Given the description of an element on the screen output the (x, y) to click on. 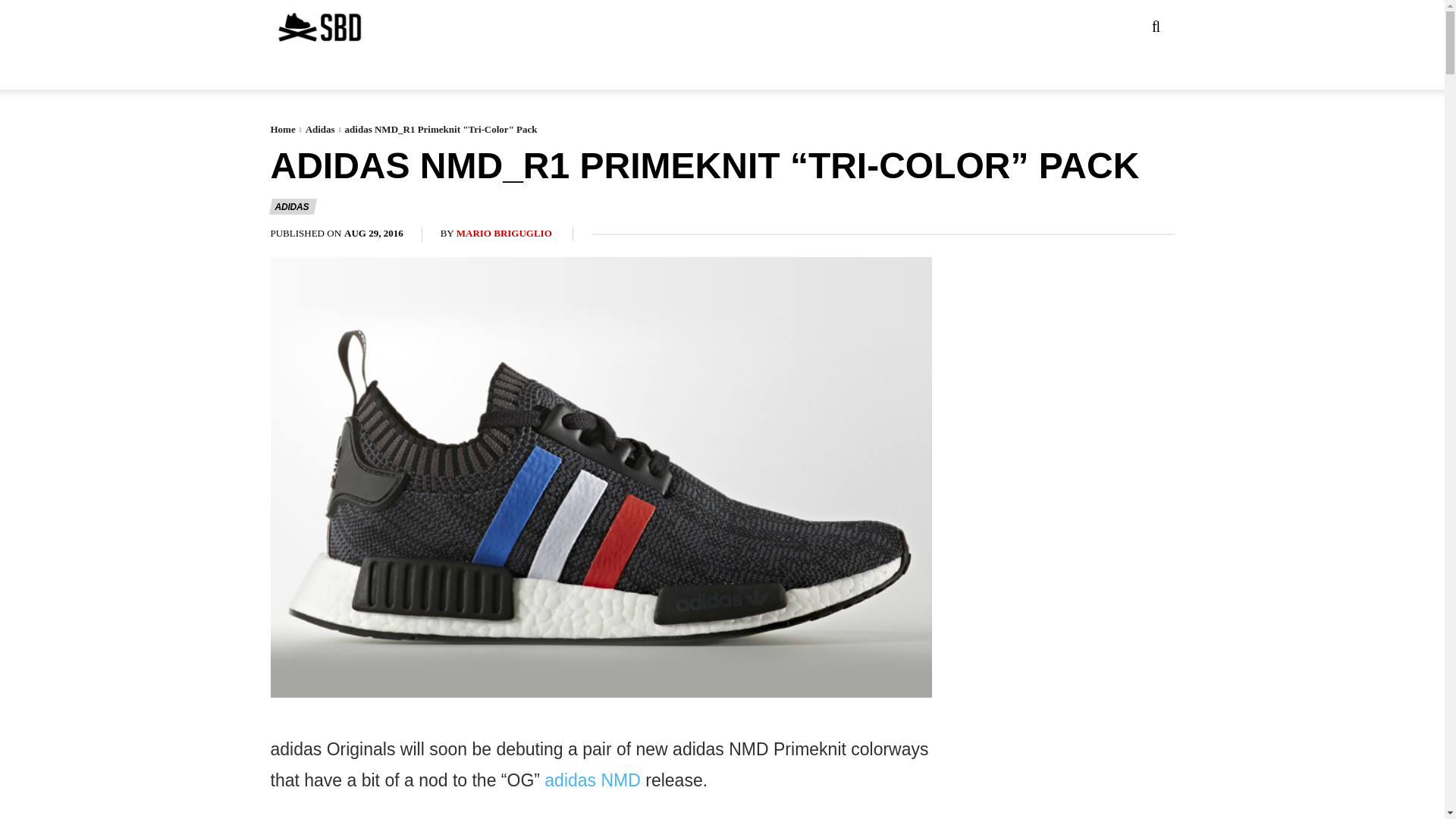
View all posts in Adidas (319, 129)
Sneaker News and Release Dates (318, 26)
Sneaker News and Release Dates (288, 26)
